Given the description of an element on the screen output the (x, y) to click on. 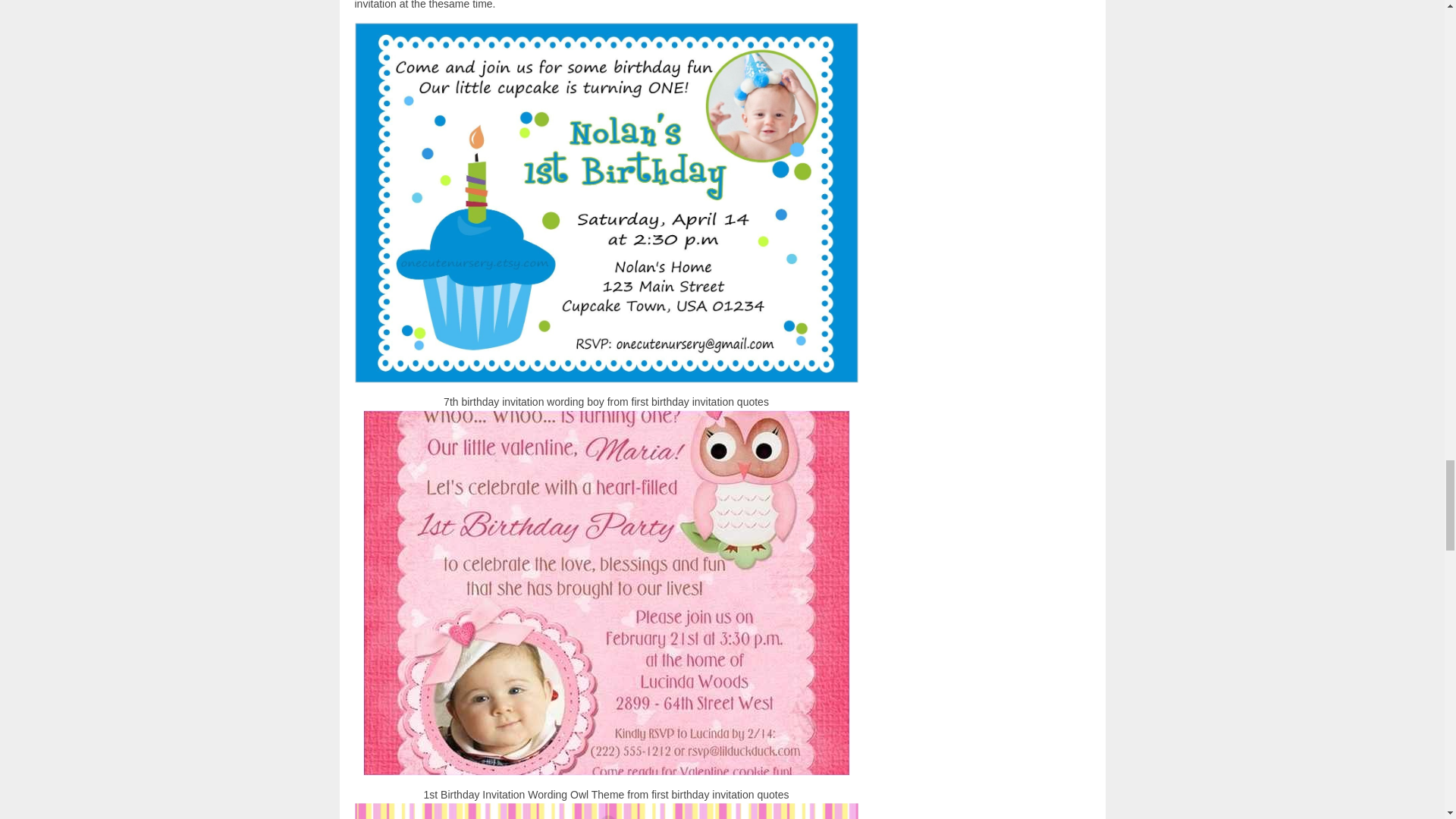
Minnie Mouse 1st Birthday Invitation (607, 811)
